Given the description of an element on the screen output the (x, y) to click on. 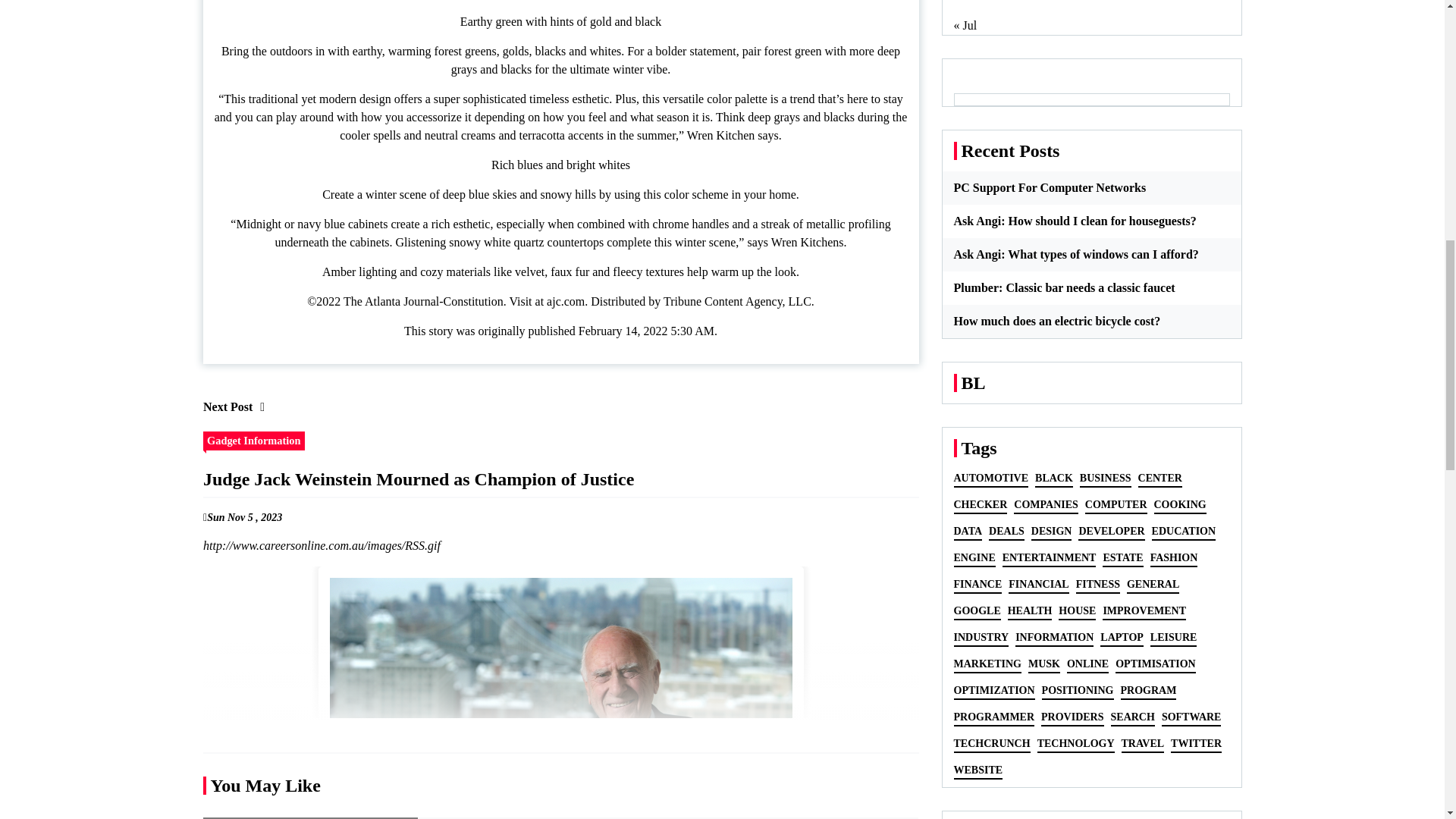
Judge Jack Weinstein Mourned as Champion of Justice (560, 692)
